Given the description of an element on the screen output the (x, y) to click on. 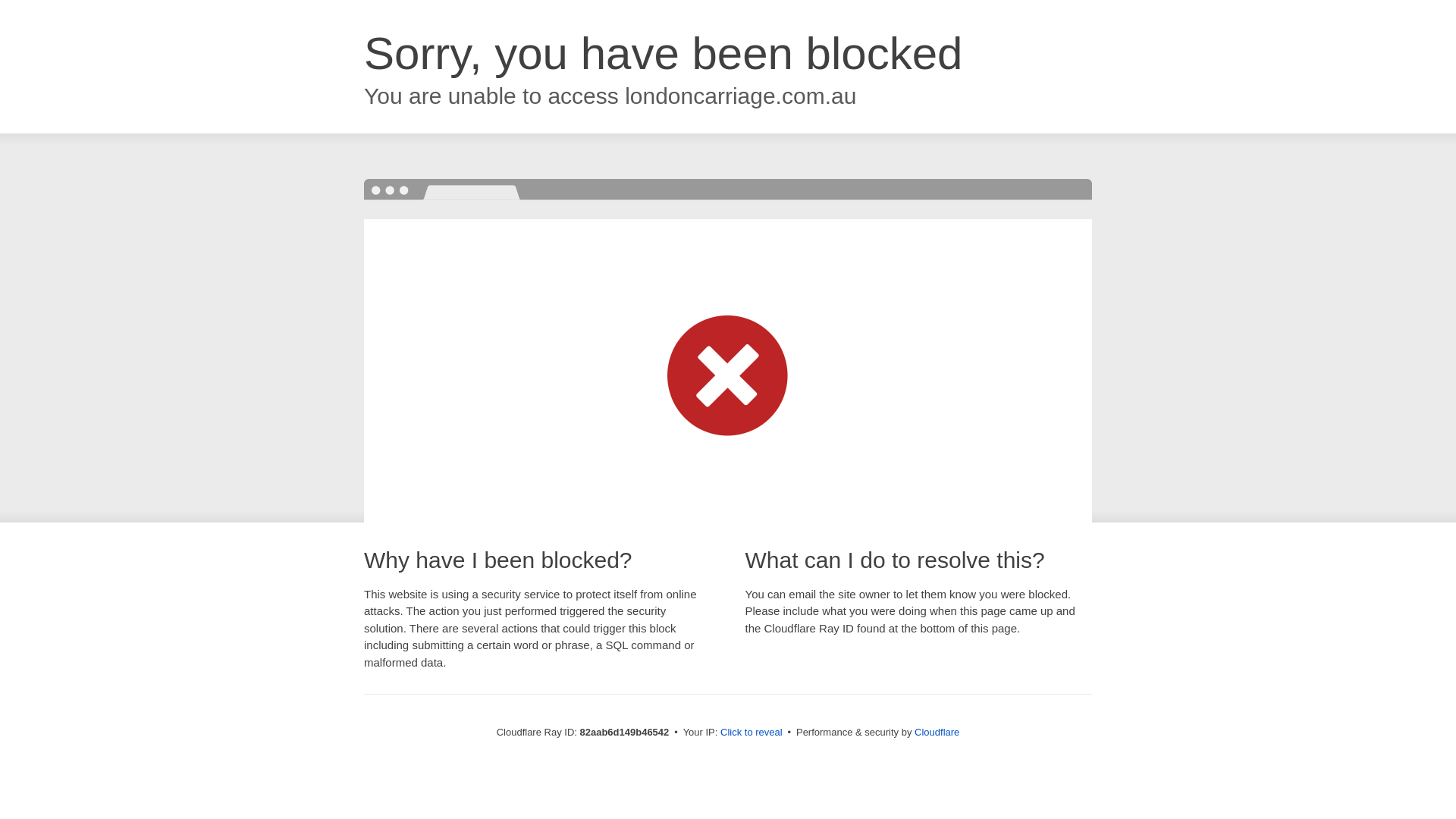
Cloudflare Element type: text (936, 731)
Click to reveal Element type: text (751, 732)
